Given the description of an element on the screen output the (x, y) to click on. 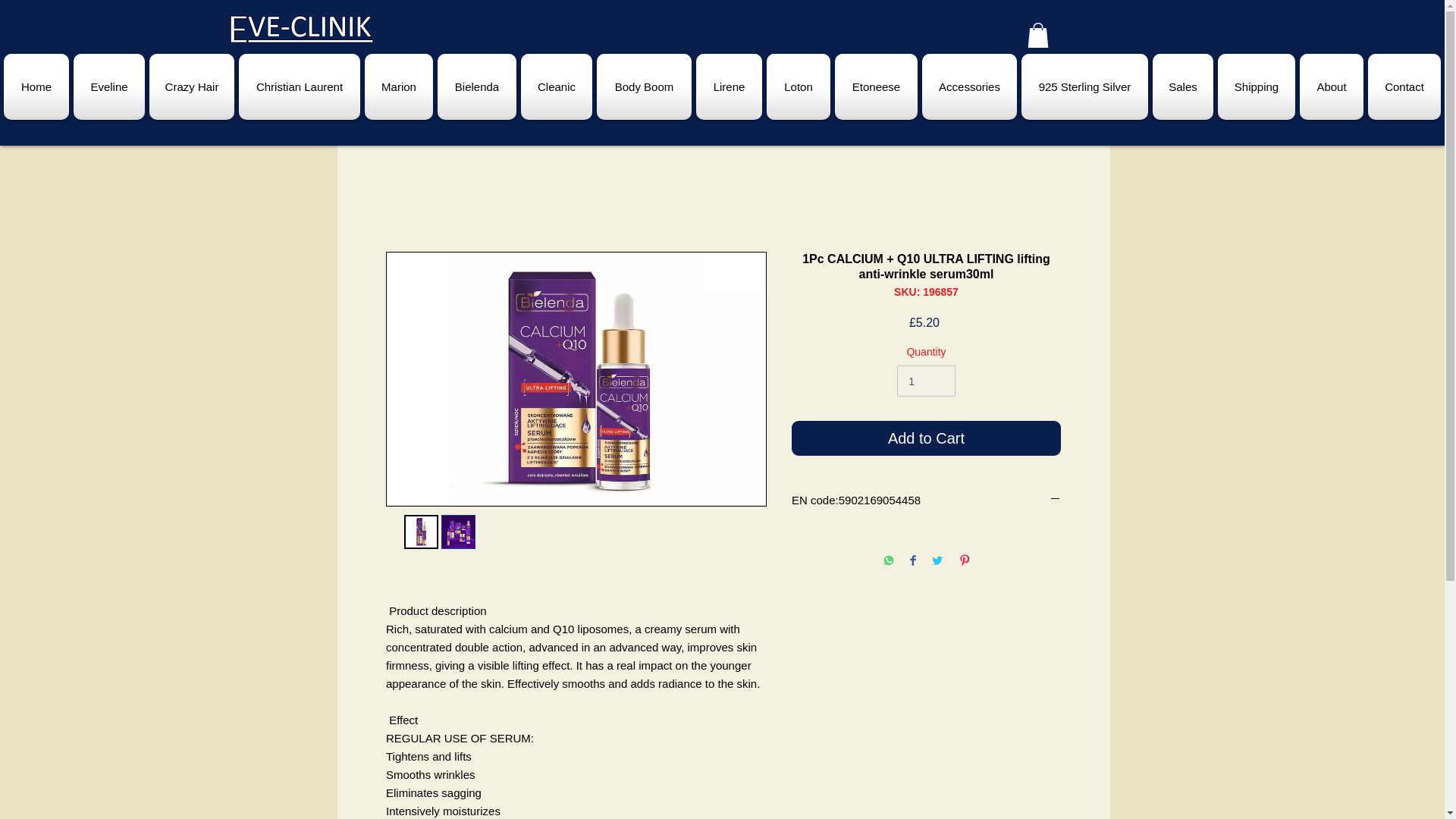
1 (925, 380)
About (1331, 86)
925 Sterling Silver (1084, 86)
Loton (798, 86)
Christian Laurent (298, 86)
Lirene (729, 86)
Cleanic (556, 86)
EN code:5902169054458 (926, 499)
Etoneese (876, 86)
Contact (1403, 86)
Crazy Hair (191, 86)
Marion (398, 86)
Shipping (1256, 86)
Add to Cart (926, 437)
Sales (1182, 86)
